Given the description of an element on the screen output the (x, y) to click on. 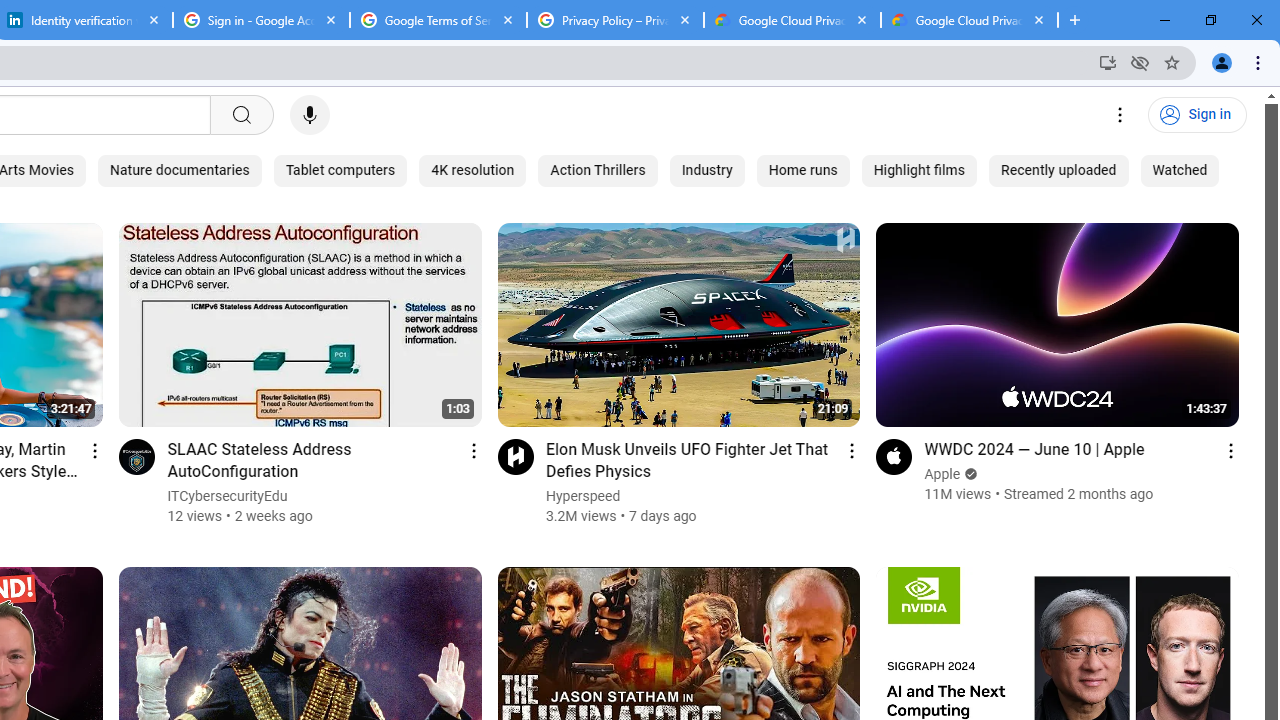
ITCybersecurityEdu (227, 496)
Apple (943, 474)
Go to channel (893, 456)
Sign in - Google Accounts (260, 20)
Industry (706, 170)
Tablet computers (340, 170)
Action Thrillers (597, 170)
